Given the description of an element on the screen output the (x, y) to click on. 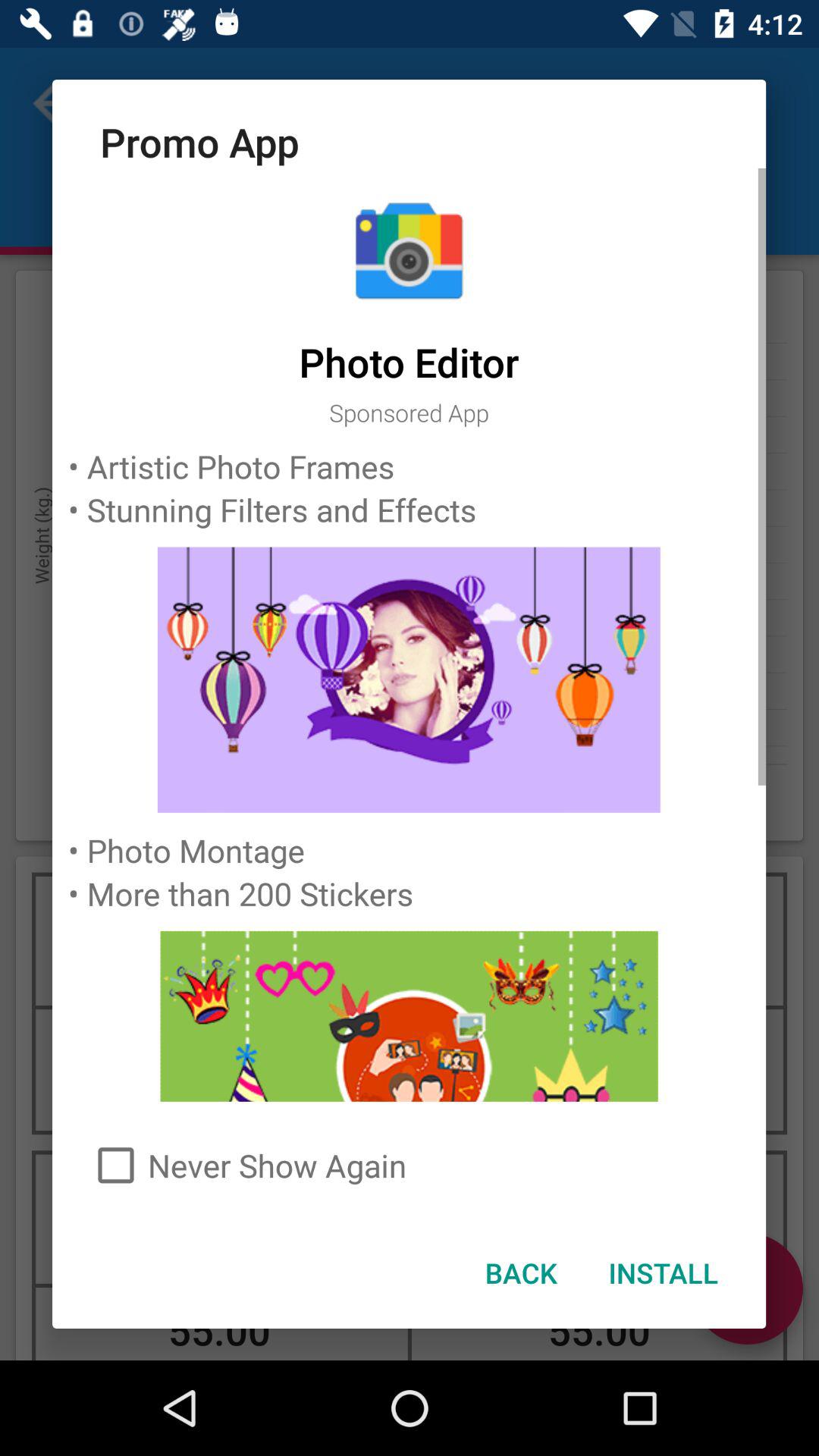
choose never show again item (409, 1165)
